Given the description of an element on the screen output the (x, y) to click on. 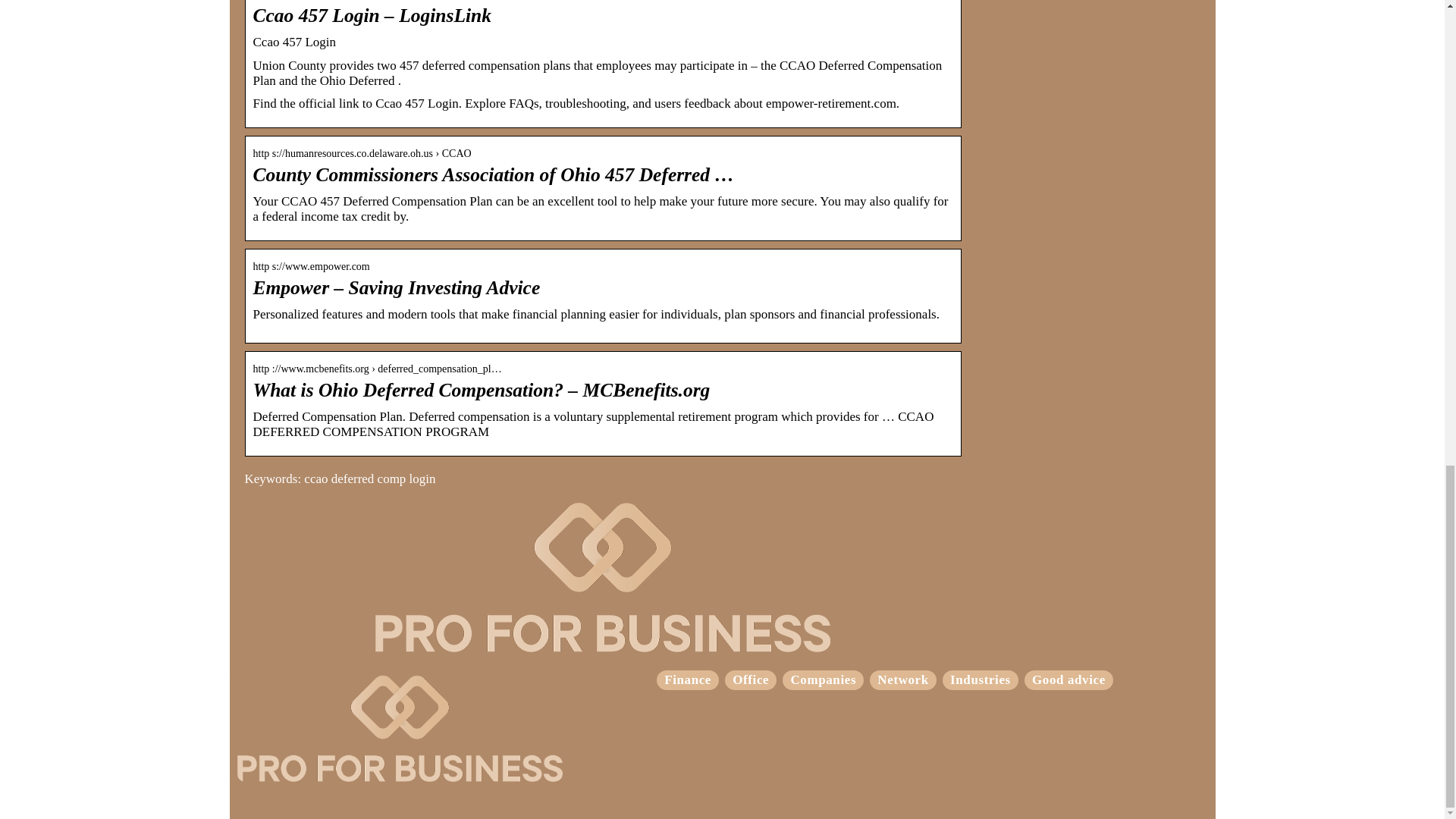
Office (750, 679)
Good advice (1068, 679)
Finance (687, 679)
Industries (980, 679)
Network (902, 679)
Companies (823, 679)
